Given the description of an element on the screen output the (x, y) to click on. 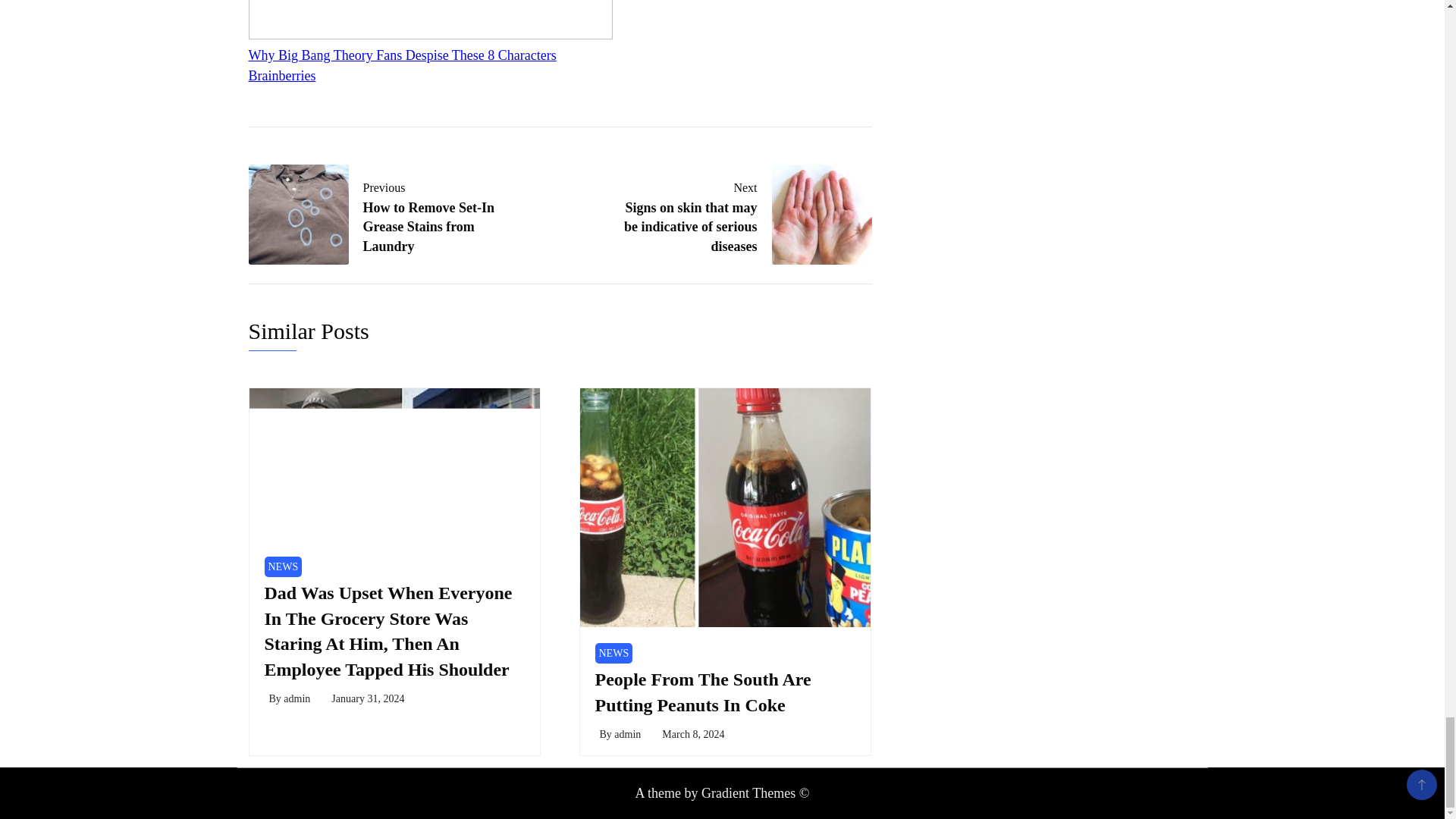
March 8, 2024 (382, 214)
admin (692, 734)
People From The South Are Putting Peanuts In Coke (296, 698)
NEWS (702, 691)
NEWS (612, 652)
admin (282, 566)
January 31, 2024 (627, 734)
